Given the description of an element on the screen output the (x, y) to click on. 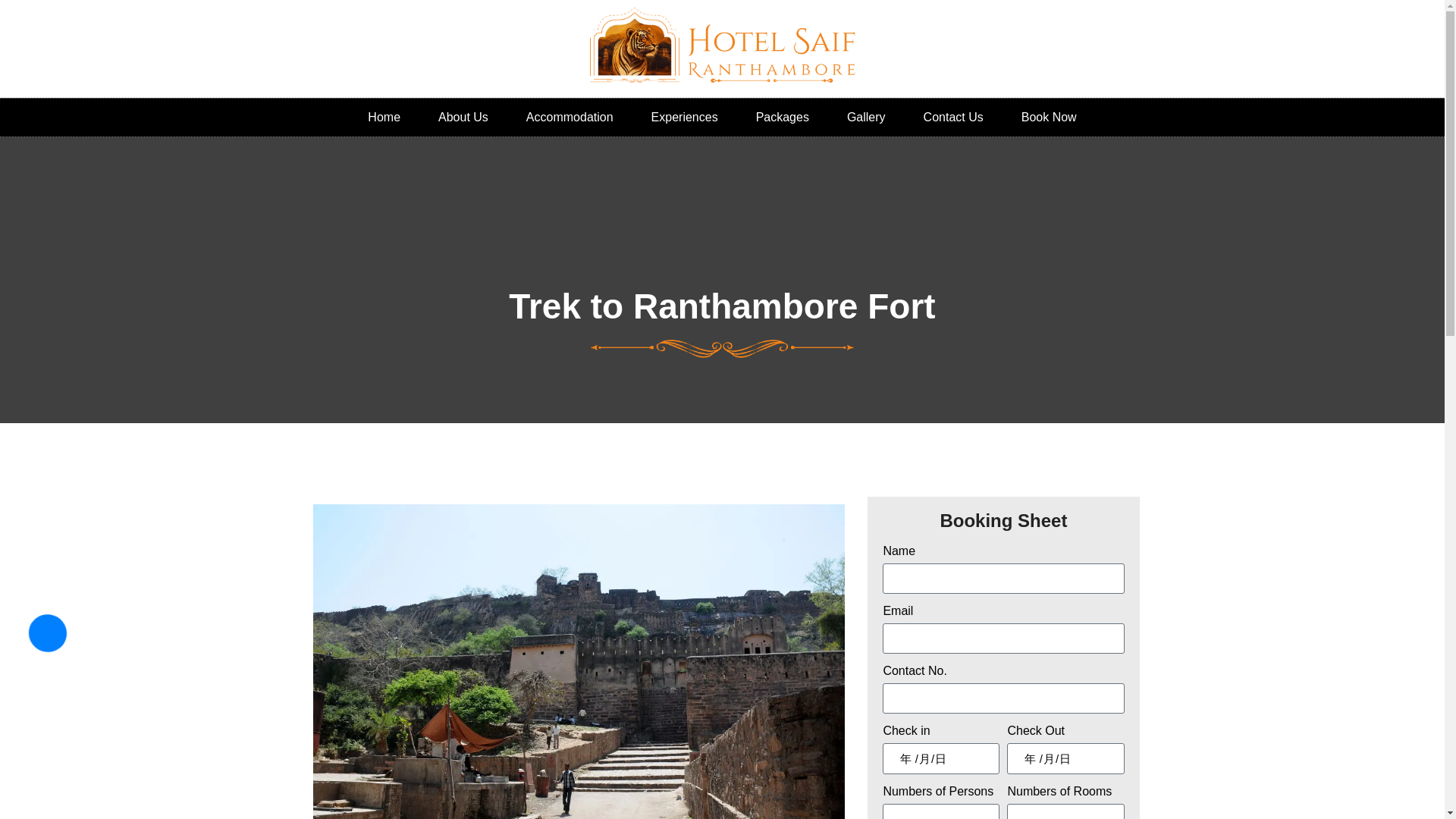
Home (384, 117)
Book Now (1049, 117)
Packages (782, 117)
Contact Us (953, 117)
Gallery (866, 117)
Call Now (47, 632)
About Us (462, 117)
Accommodation (568, 117)
Experiences (683, 117)
